Given the description of an element on the screen output the (x, y) to click on. 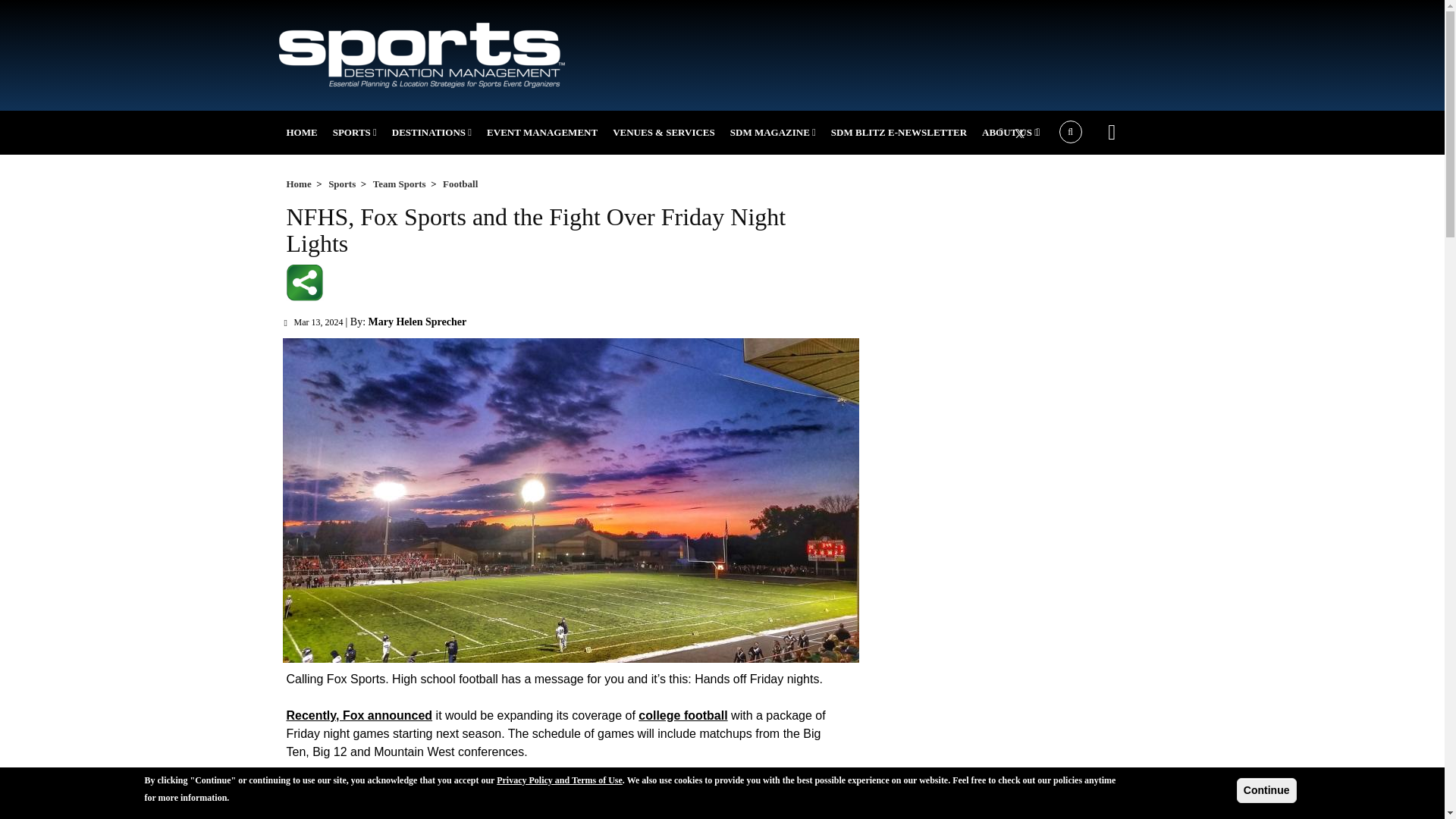
3rd party ad content (871, 49)
Home (298, 183)
YouTube video player (1022, 490)
HOME (301, 131)
SDM BLITZ E-NEWSLETTER (899, 131)
3rd party ad content (1021, 688)
DESTINATIONS (431, 131)
ABOUT US (1009, 131)
Home (421, 53)
